Given the description of an element on the screen output the (x, y) to click on. 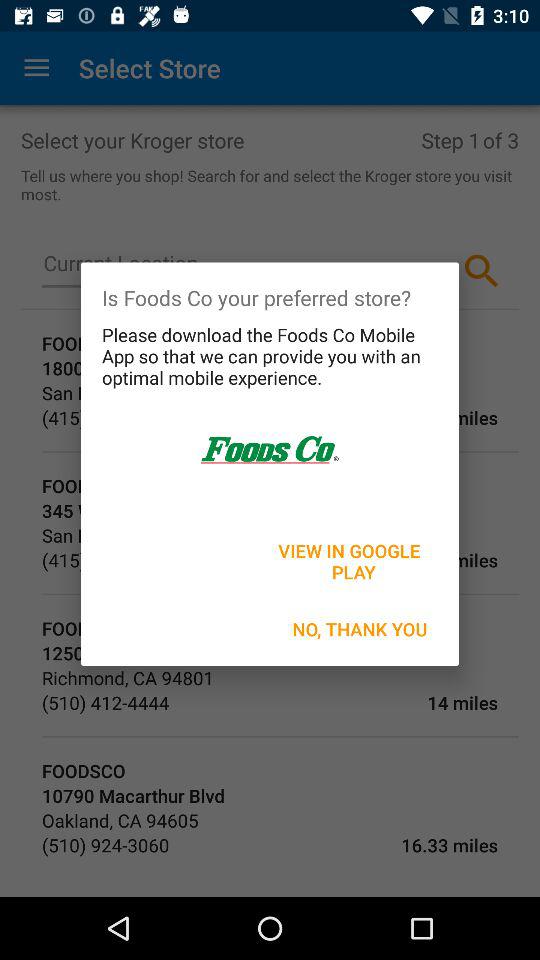
flip to the view in google (351, 561)
